Given the description of an element on the screen output the (x, y) to click on. 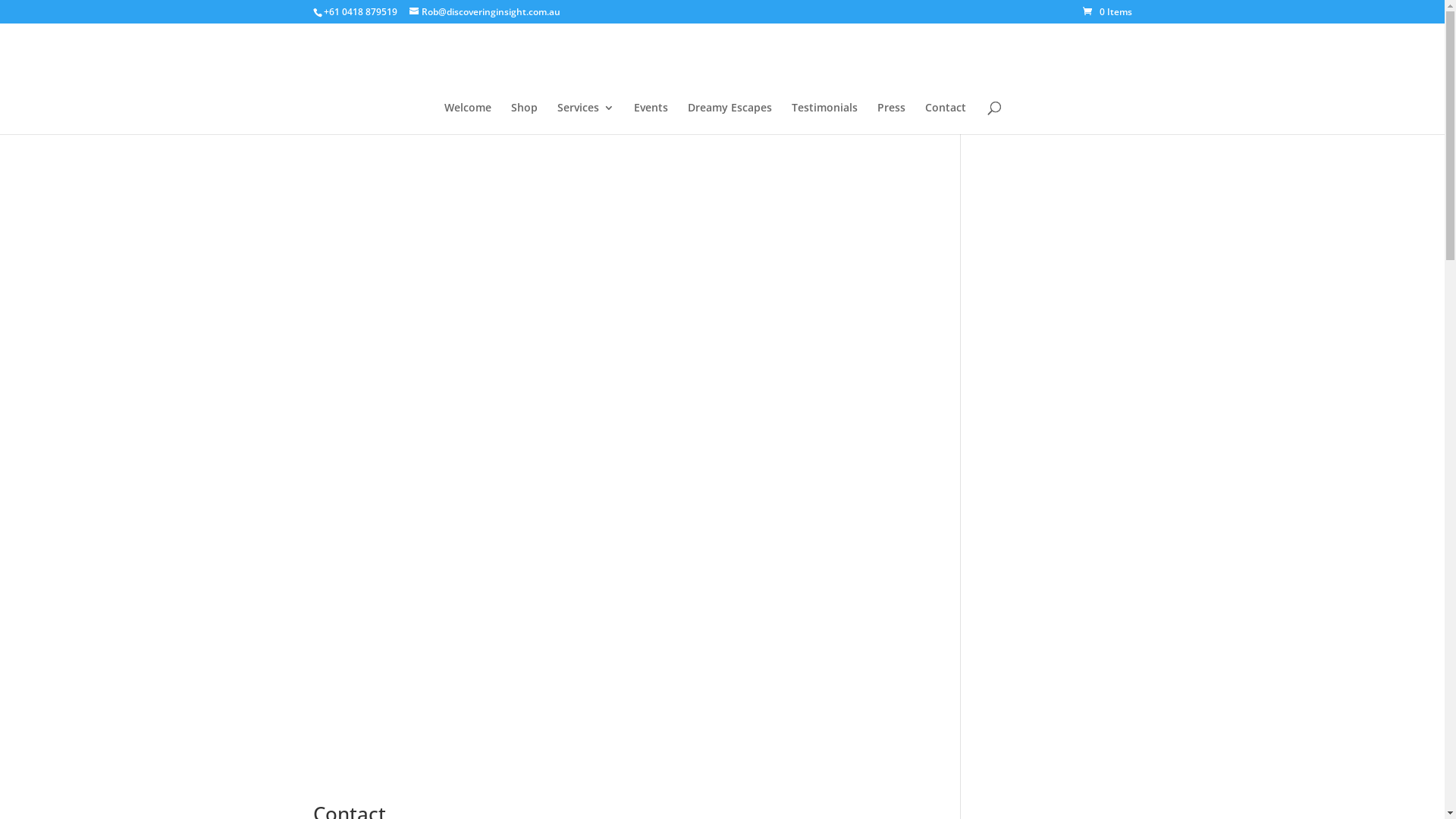
Dreamy Escapes Element type: text (729, 118)
0 Items Element type: text (1107, 11)
Shop Element type: text (524, 118)
Welcome Element type: text (467, 118)
Services Element type: text (584, 118)
Events Element type: text (650, 118)
Testimonials Element type: text (824, 118)
Rob@discoveringinsight.com.au Element type: text (484, 11)
Contact Element type: text (945, 118)
Press Element type: text (890, 118)
